Given the description of an element on the screen output the (x, y) to click on. 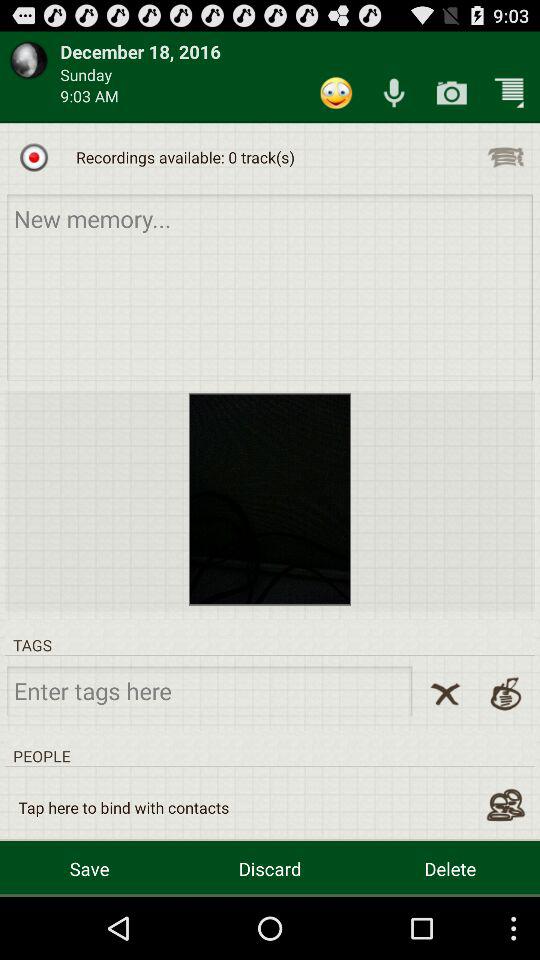
record (34, 157)
